Given the description of an element on the screen output the (x, y) to click on. 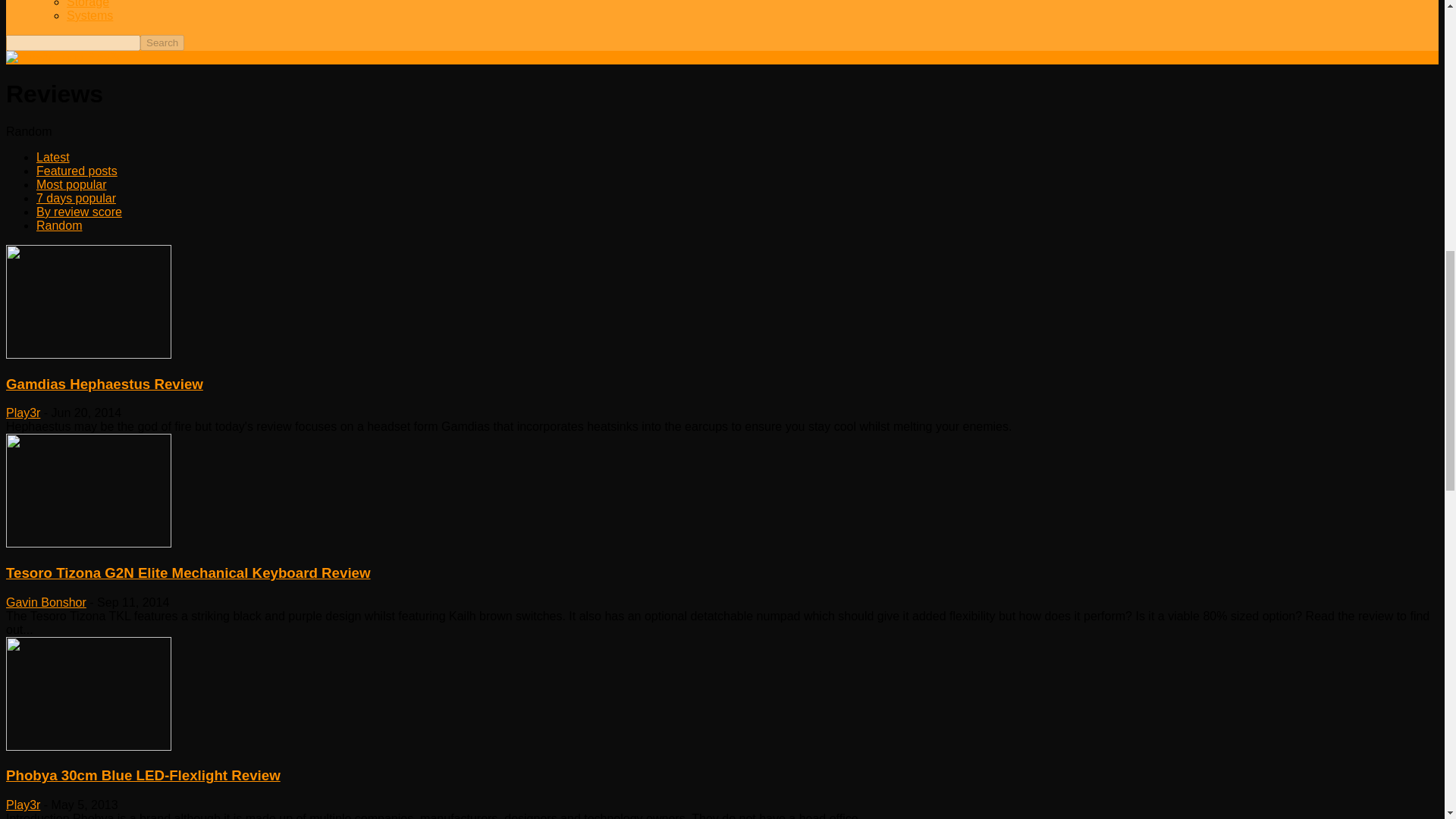
Phobya 30cm Blue LED-Flexlight Review (88, 694)
Search (161, 42)
Phobya 30cm Blue LED-Flexlight Review (88, 746)
Gamdias Hephaestus Review (104, 383)
Gamdias Hephaestus Review (88, 301)
Gamdias Hephaestus Review (88, 354)
Phobya 30cm Blue LED-Flexlight Review (143, 774)
Tesoro Tizona G2N Elite Mechanical Keyboard Review (88, 543)
Tesoro Tizona G2N Elite Mechanical Keyboard Review (88, 490)
Tesoro Tizona G2N Elite Mechanical Keyboard Review (188, 572)
